Given the description of an element on the screen output the (x, y) to click on. 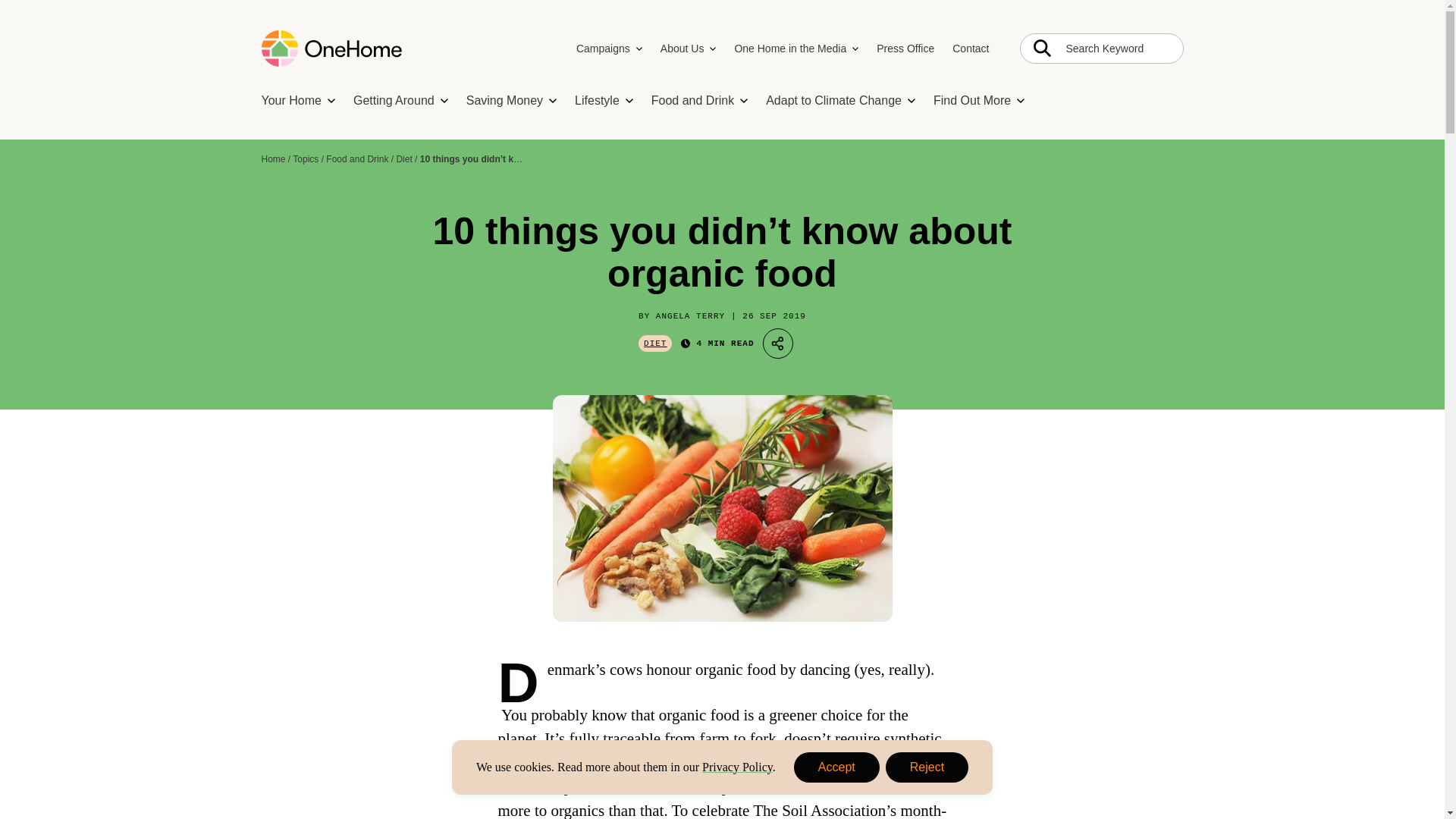
Contact (970, 48)
Adapt to Climate Change (833, 101)
About Us (712, 48)
Food and Drink (743, 100)
Lifestyle (629, 100)
Adapt to Climate Change (836, 767)
Saving Money (911, 100)
Skip to content (552, 100)
